Given the description of an element on the screen output the (x, y) to click on. 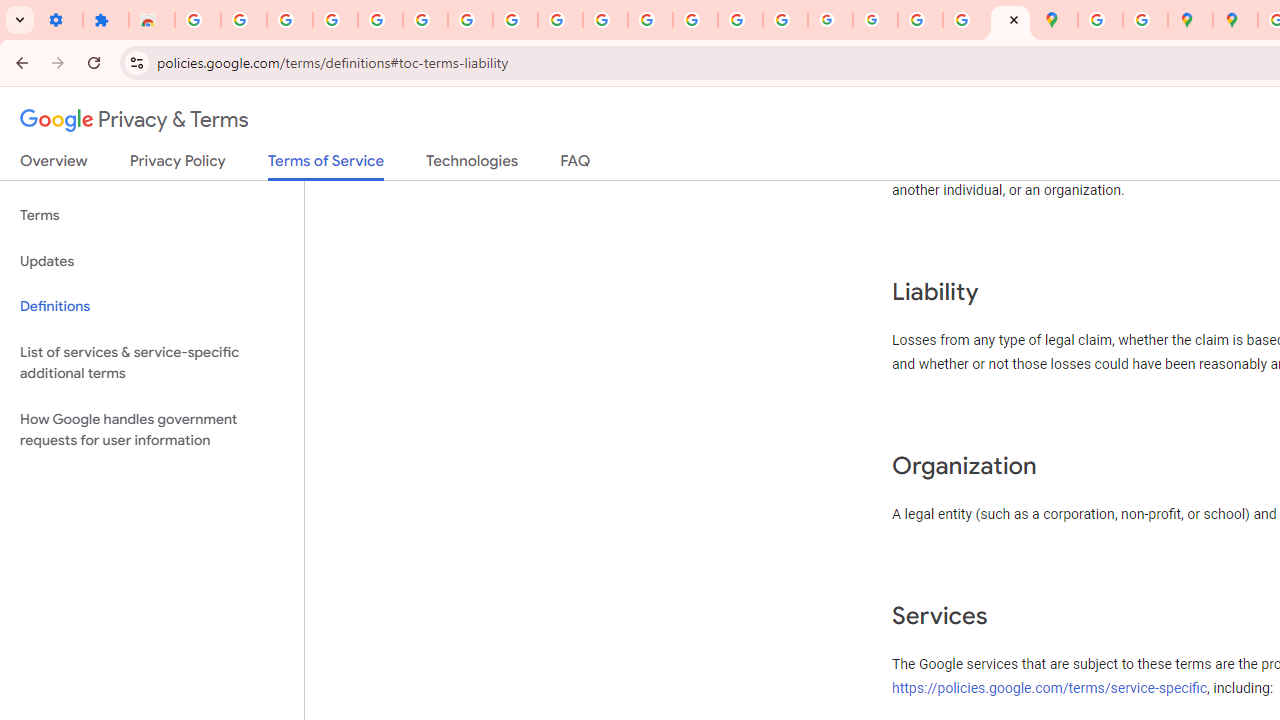
Privacy & Terms (134, 120)
Terms (152, 215)
How Google handles government requests for user information (152, 429)
Privacy Policy (177, 165)
Reload (93, 62)
Forward (57, 62)
https://scholar.google.com/ (650, 20)
Overview (54, 165)
Updates (152, 261)
Terms of Service (326, 166)
https://policies.google.com/terms/service-specific (1050, 687)
